Given the description of an element on the screen output the (x, y) to click on. 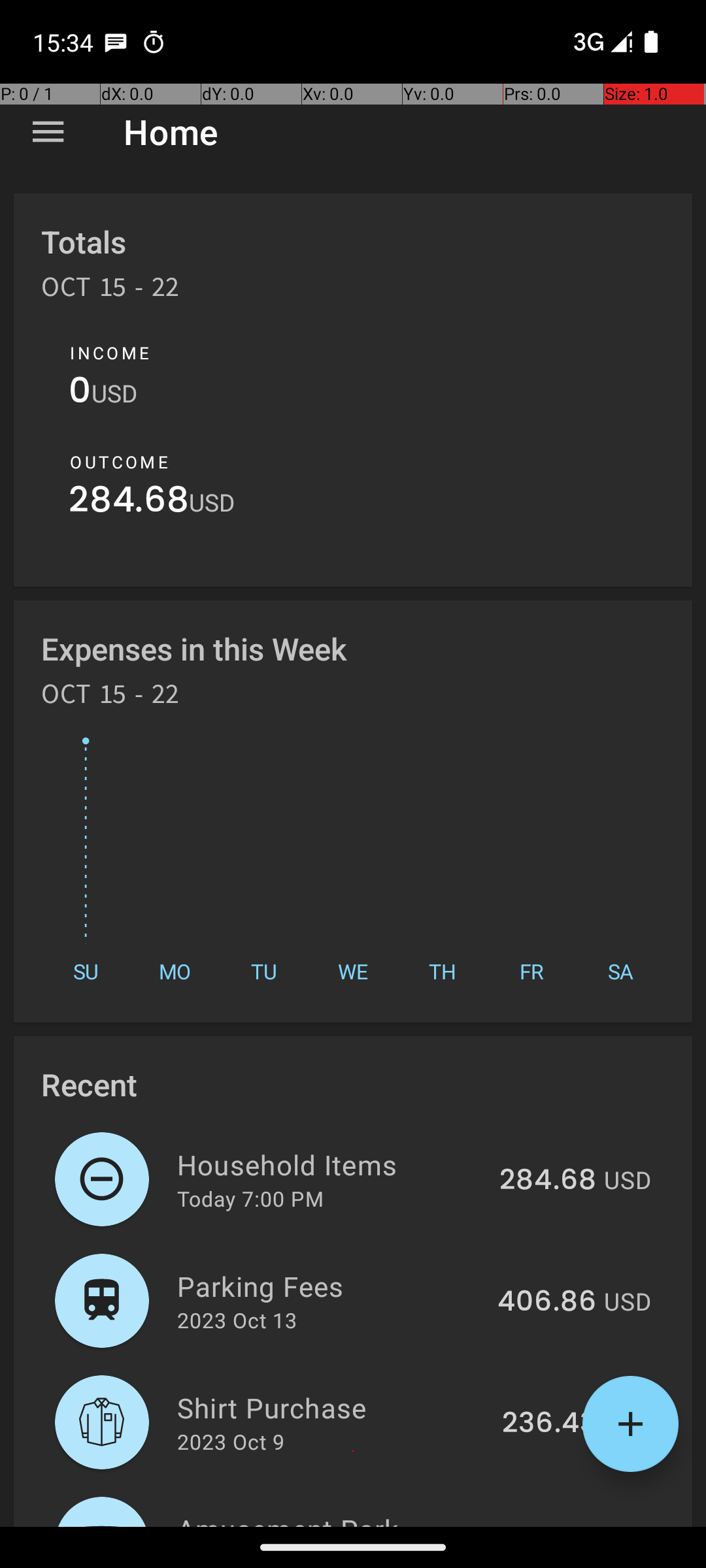
284.68 Element type: android.widget.TextView (128, 502)
Household Items Element type: android.widget.TextView (330, 1164)
Parking Fees Element type: android.widget.TextView (329, 1285)
406.86 Element type: android.widget.TextView (546, 1301)
Shirt Purchase Element type: android.widget.TextView (331, 1407)
236.43 Element type: android.widget.TextView (548, 1423)
Amusement Park Element type: android.widget.TextView (331, 1518)
348.75 Element type: android.widget.TextView (548, 1524)
